Given the description of an element on the screen output the (x, y) to click on. 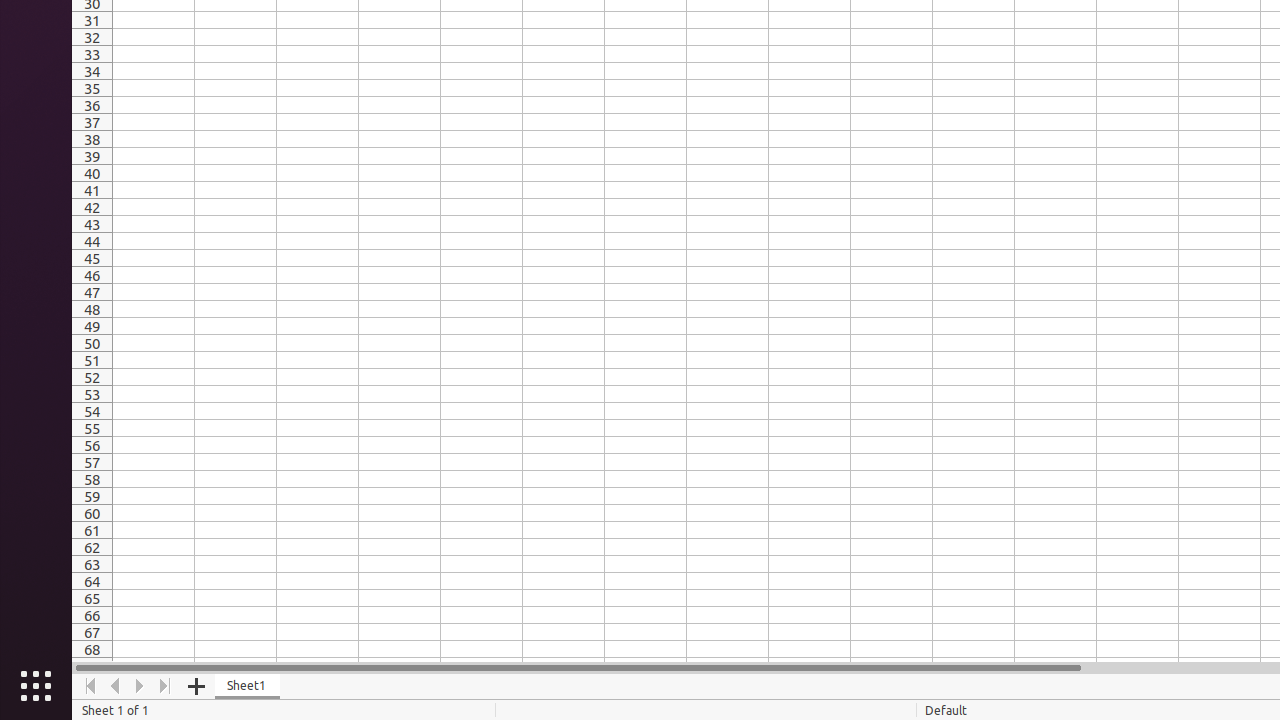
Sheet1 Element type: page-tab (247, 686)
Move Left Element type: push-button (115, 686)
Move Right Element type: push-button (140, 686)
Move To Home Element type: push-button (90, 686)
Show Applications Element type: toggle-button (36, 686)
